Given the description of an element on the screen output the (x, y) to click on. 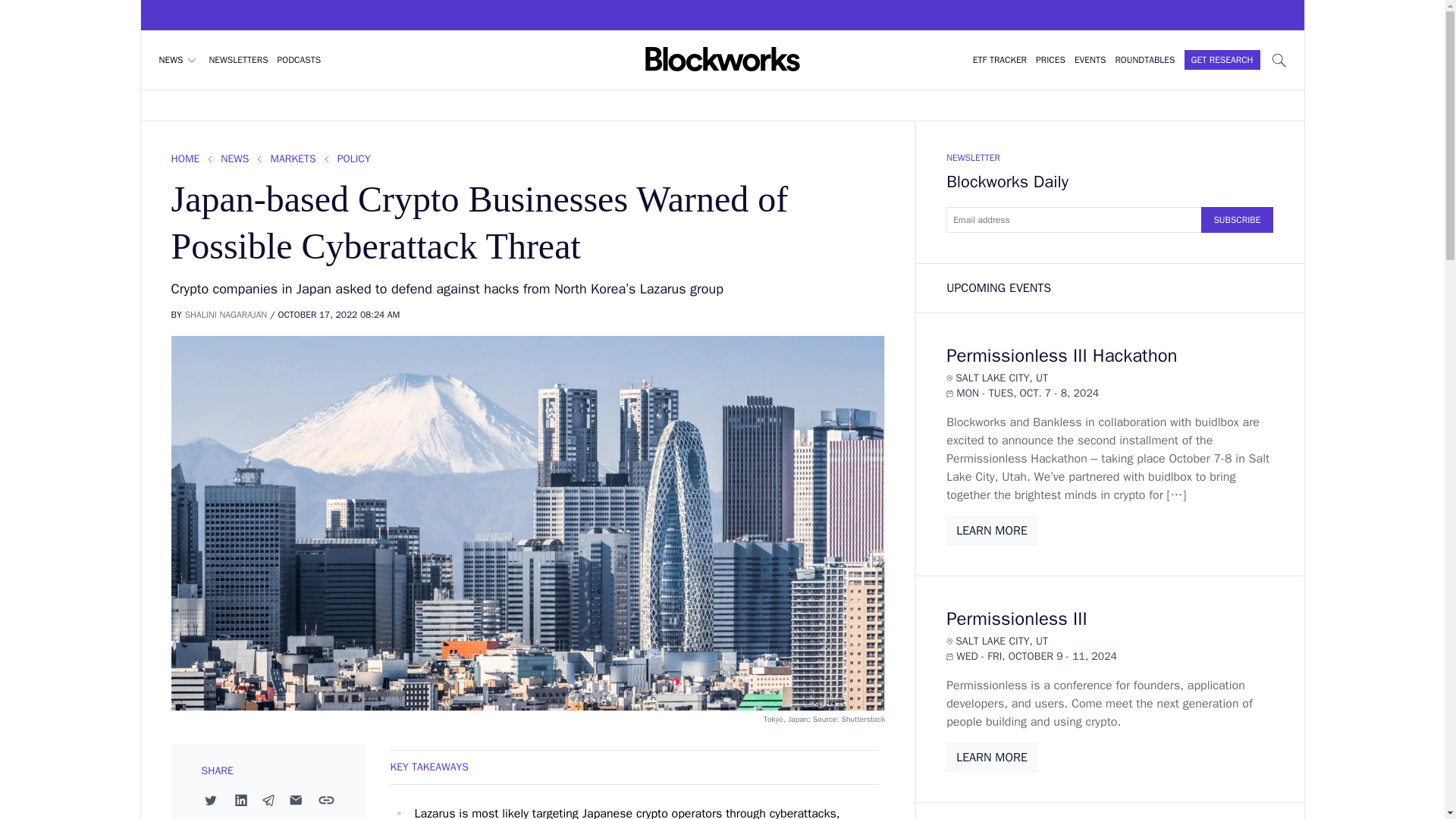
LEARN MORE (991, 757)
PRICES (1050, 60)
GET RESEARCH (1222, 59)
SHALINI NAGARAJAN (225, 314)
ETF TRACKER (999, 60)
Permissionless III (1016, 618)
NEWS (179, 59)
MARKETS (292, 159)
Permissionless III Hackathon (1061, 354)
HOME (185, 159)
ROUNDTABLES (1144, 60)
SUBSCRIBE (1236, 219)
EVENTS (1089, 60)
PODCASTS (299, 60)
NEWS (234, 159)
